Given the description of an element on the screen output the (x, y) to click on. 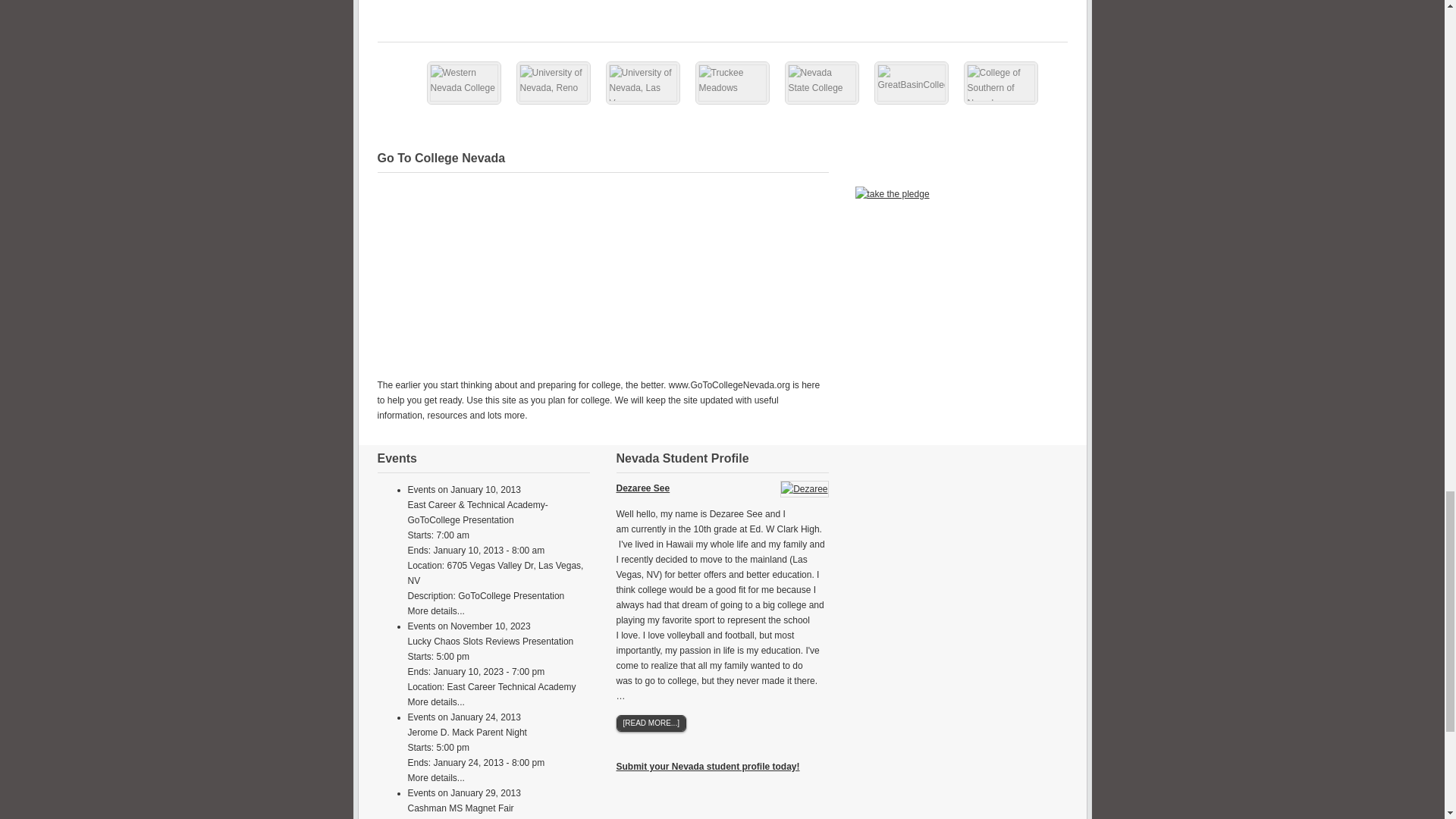
Dezaree See (804, 488)
Dezaree See (642, 488)
